Given the description of an element on the screen output the (x, y) to click on. 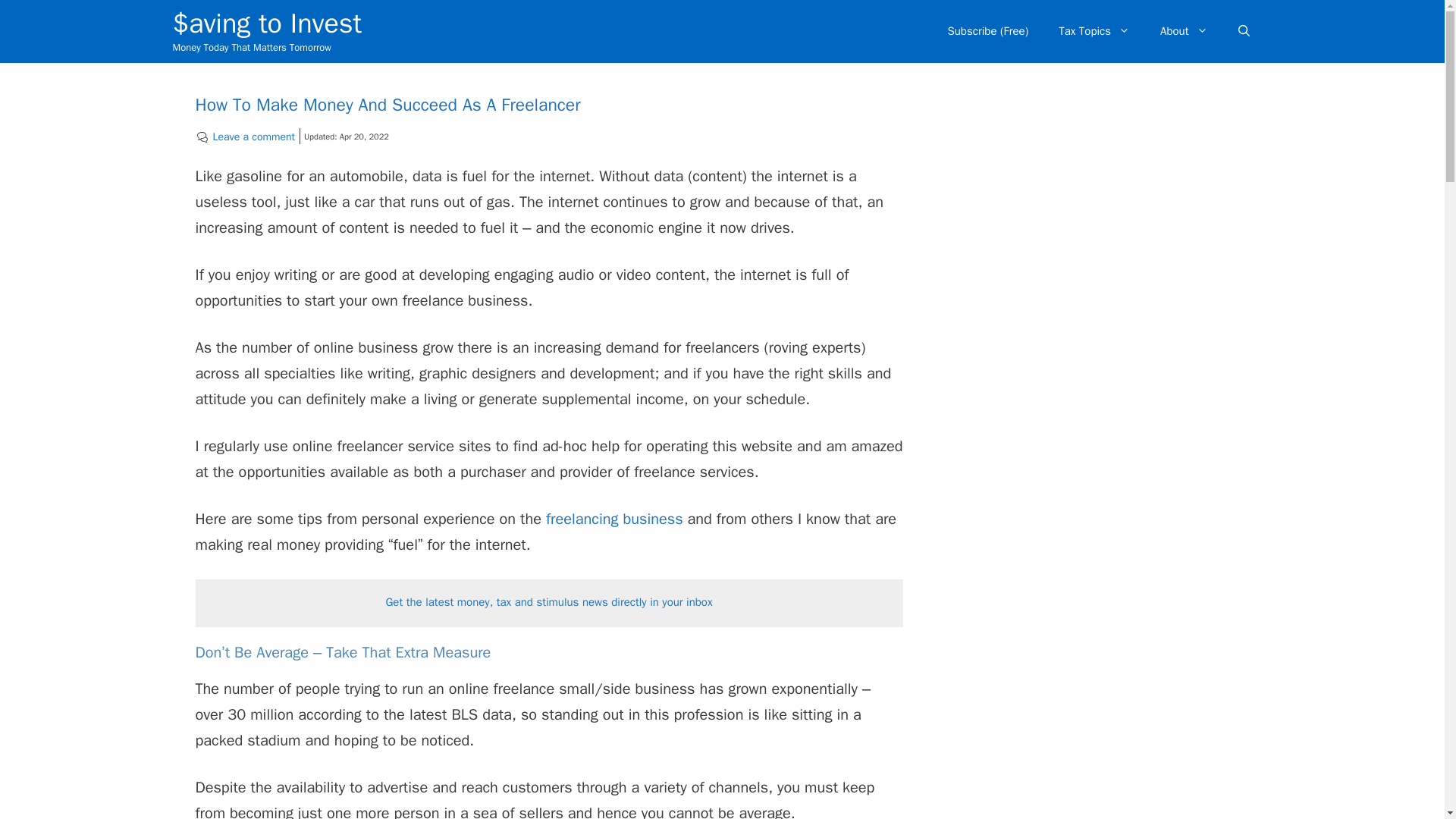
freelancing business (614, 518)
Subscribe via Email (548, 602)
About (1183, 31)
Tax Topics (1093, 31)
5 Side Hustles to Start with Your Tax Refund (614, 518)
Leave a comment (253, 136)
